Given the description of an element on the screen output the (x, y) to click on. 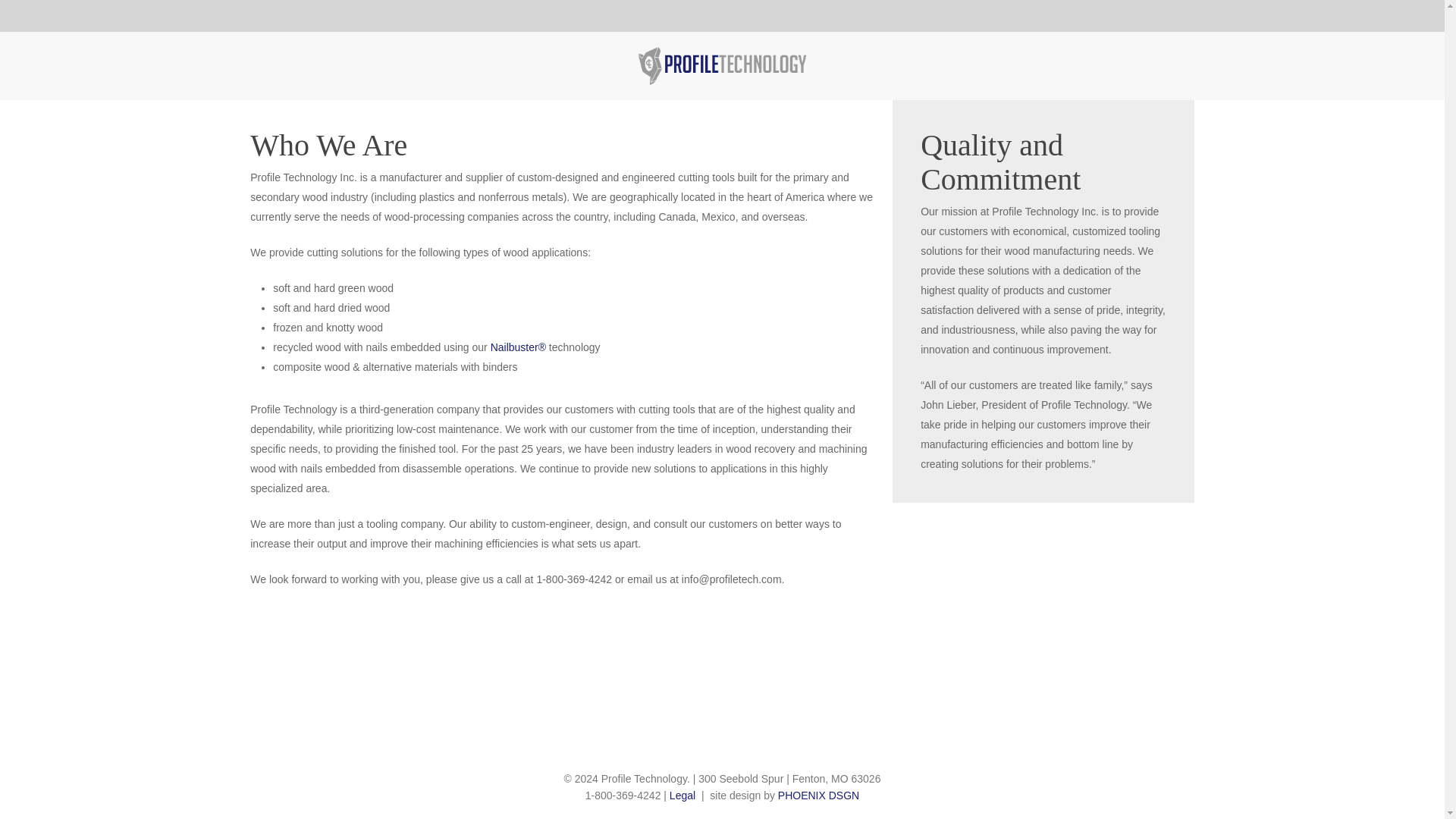
Legal (682, 795)
PHOENIX DSGN (818, 795)
